Given the description of an element on the screen output the (x, y) to click on. 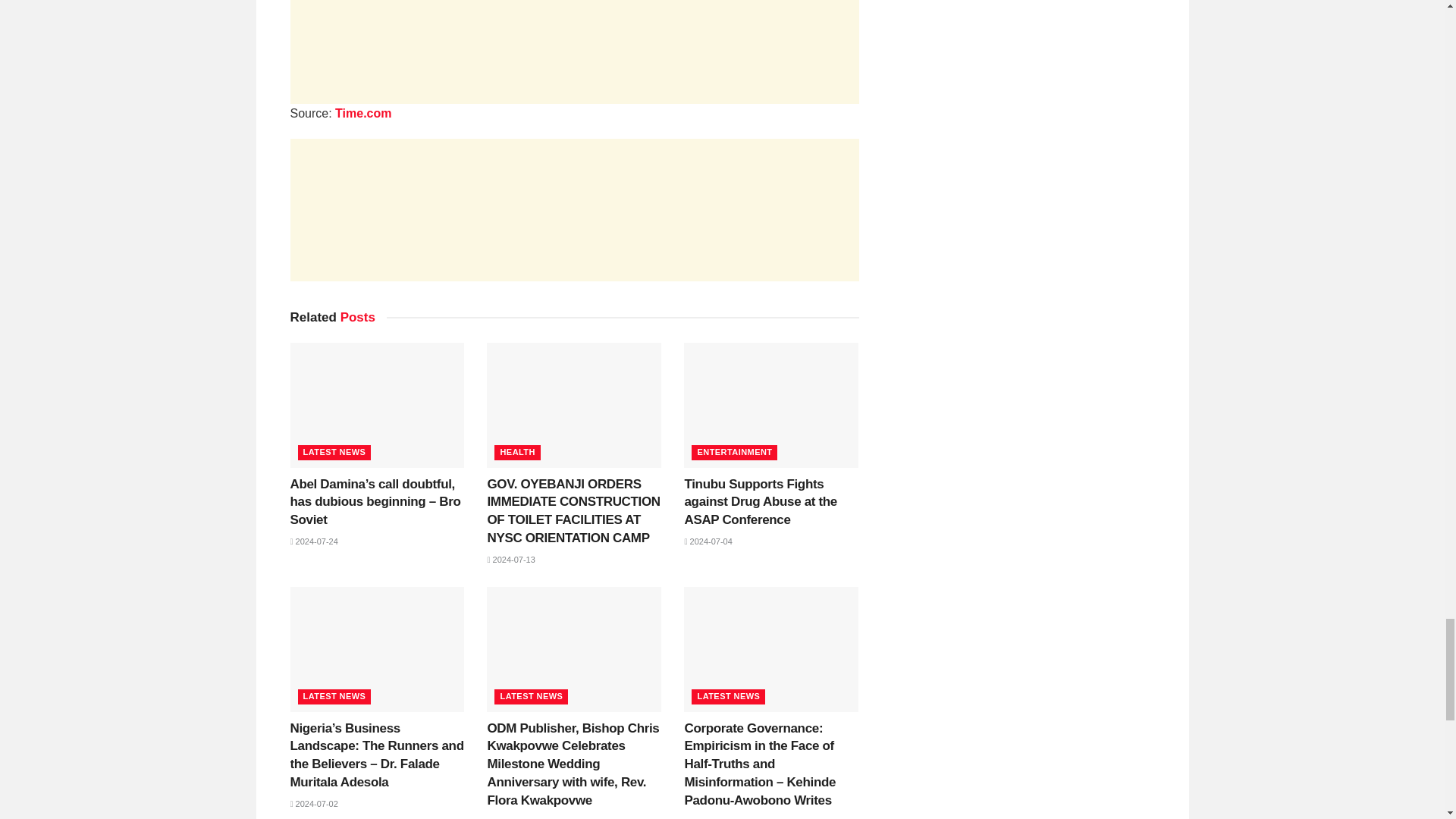
Time.com (362, 113)
2024-07-24 (313, 541)
LATEST NEWS (334, 452)
HEALTH (517, 452)
2024-07-13 (510, 559)
